Given the description of an element on the screen output the (x, y) to click on. 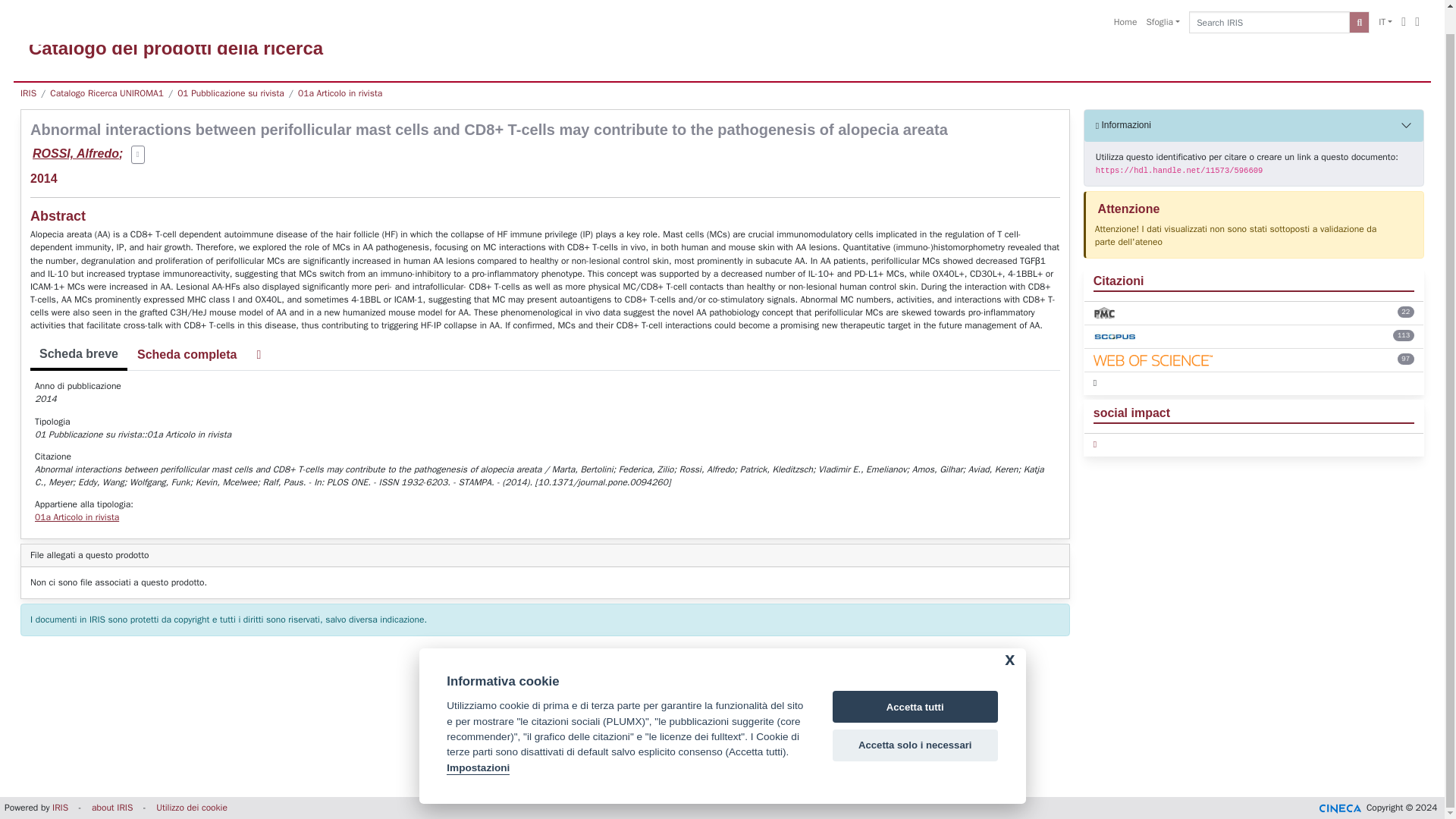
IRIS (28, 92)
Scheda completa (187, 355)
01a Articolo in rivista (76, 517)
Catalogo Ricerca UNIROMA1 (106, 92)
Scheda breve (79, 356)
Home (1125, 4)
 Informazioni (1253, 124)
Sfoglia (1163, 4)
IRIS (60, 807)
ROSSI, Alfredo (75, 153)
aggiornato in data 19-08-2022 13:46 (1405, 311)
IT (1385, 4)
01 Pubblicazione su rivista (230, 92)
01a Articolo in rivista (339, 92)
